Given the description of an element on the screen output the (x, y) to click on. 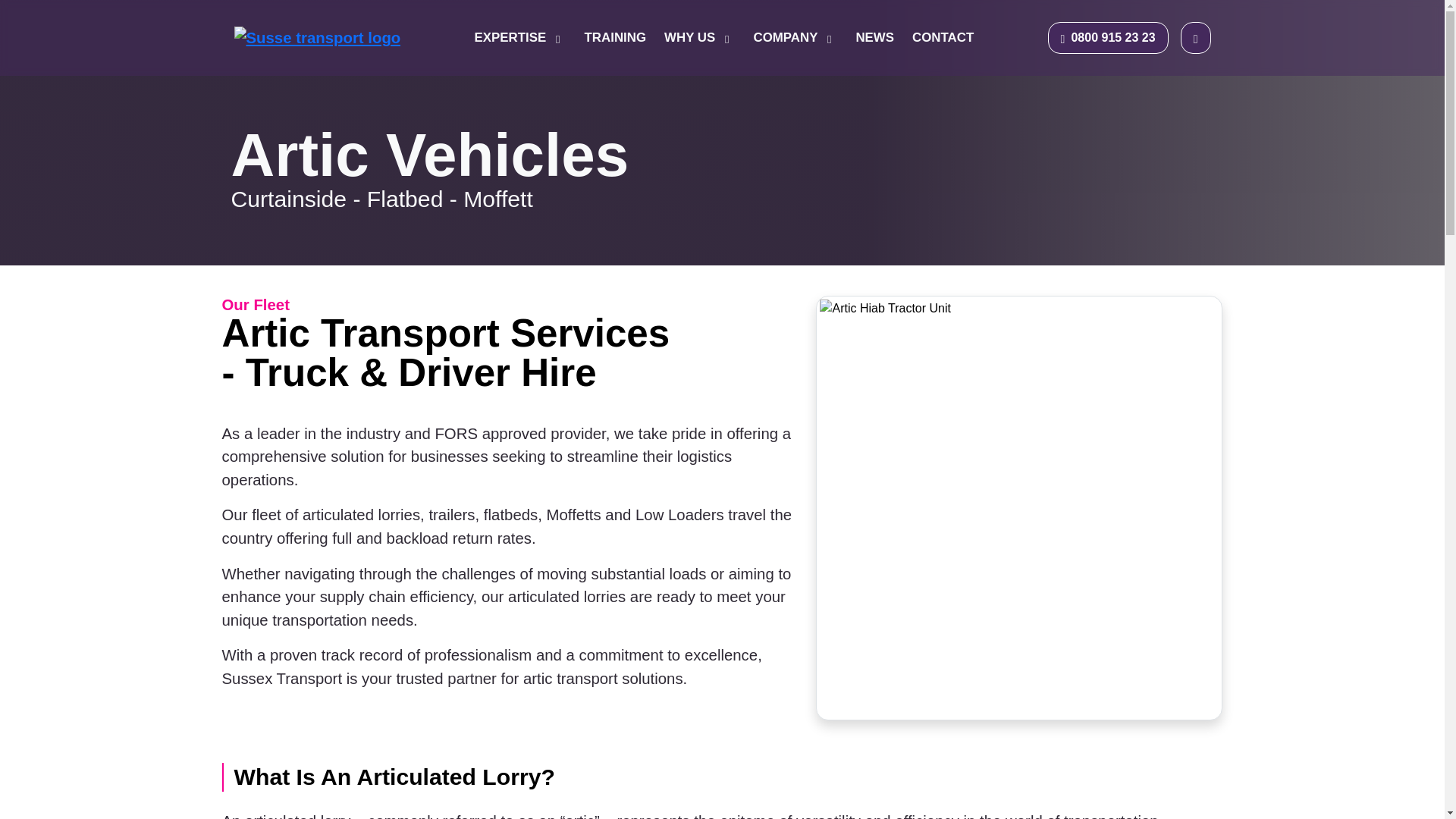
Call 0800 915 23 23 (1108, 38)
Home (316, 37)
